Given the description of an element on the screen output the (x, y) to click on. 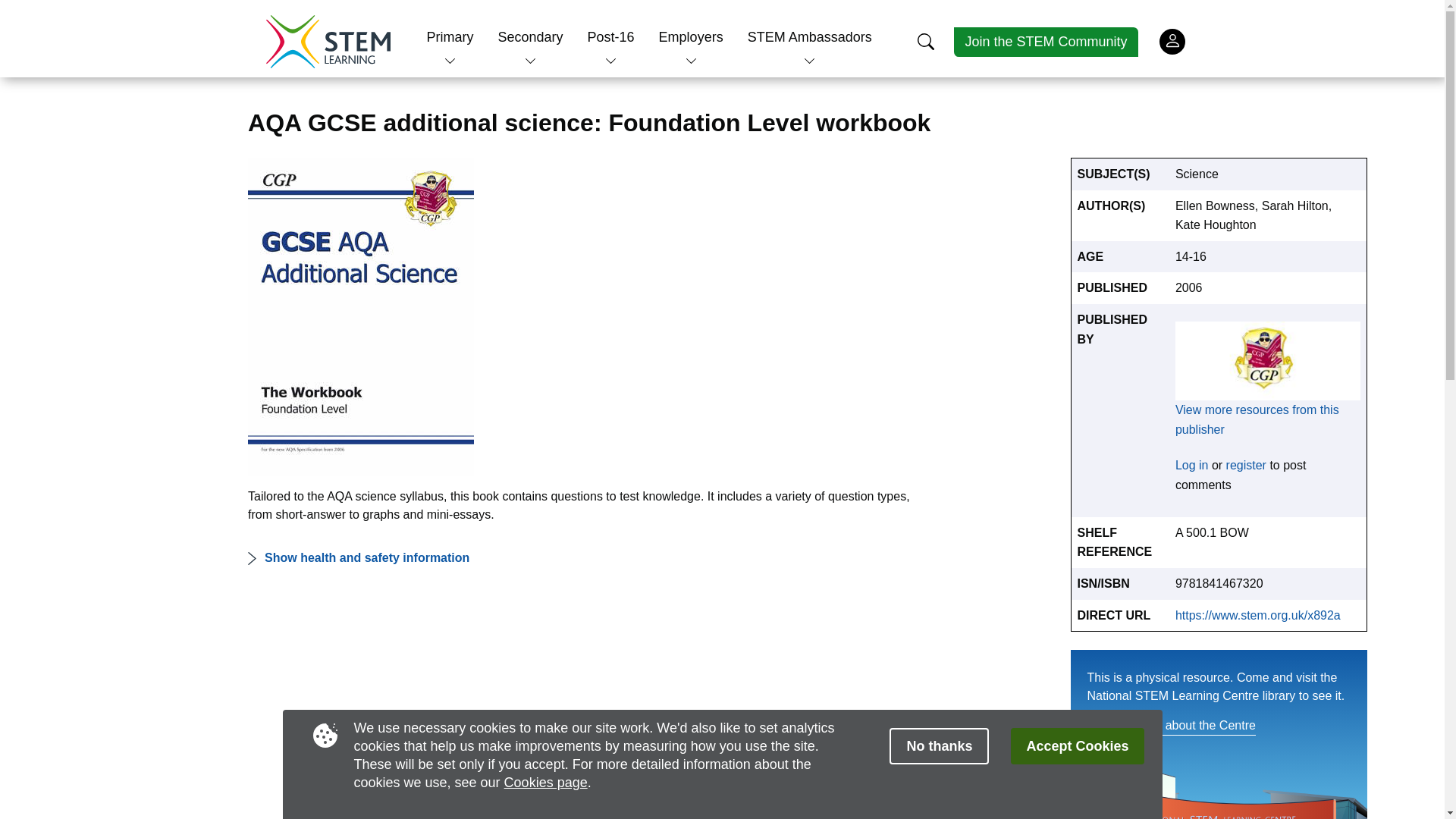
Employers (691, 37)
Secondary (529, 37)
Post-16 (611, 37)
Primary (449, 37)
STEM Ambassadors (810, 37)
Home (327, 40)
